Given the description of an element on the screen output the (x, y) to click on. 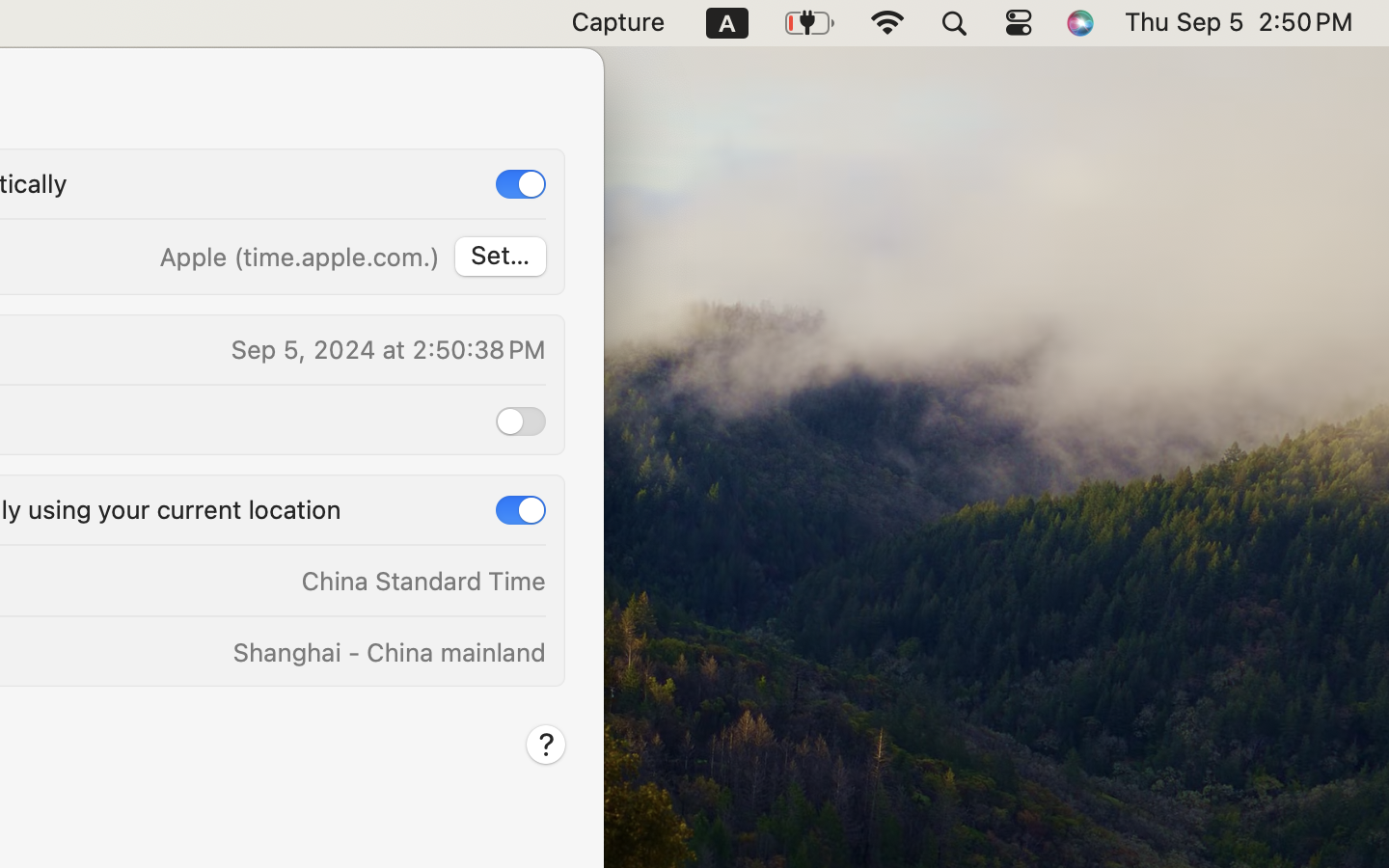
1 Element type: AXCheckBox (520, 183)
